Given the description of an element on the screen output the (x, y) to click on. 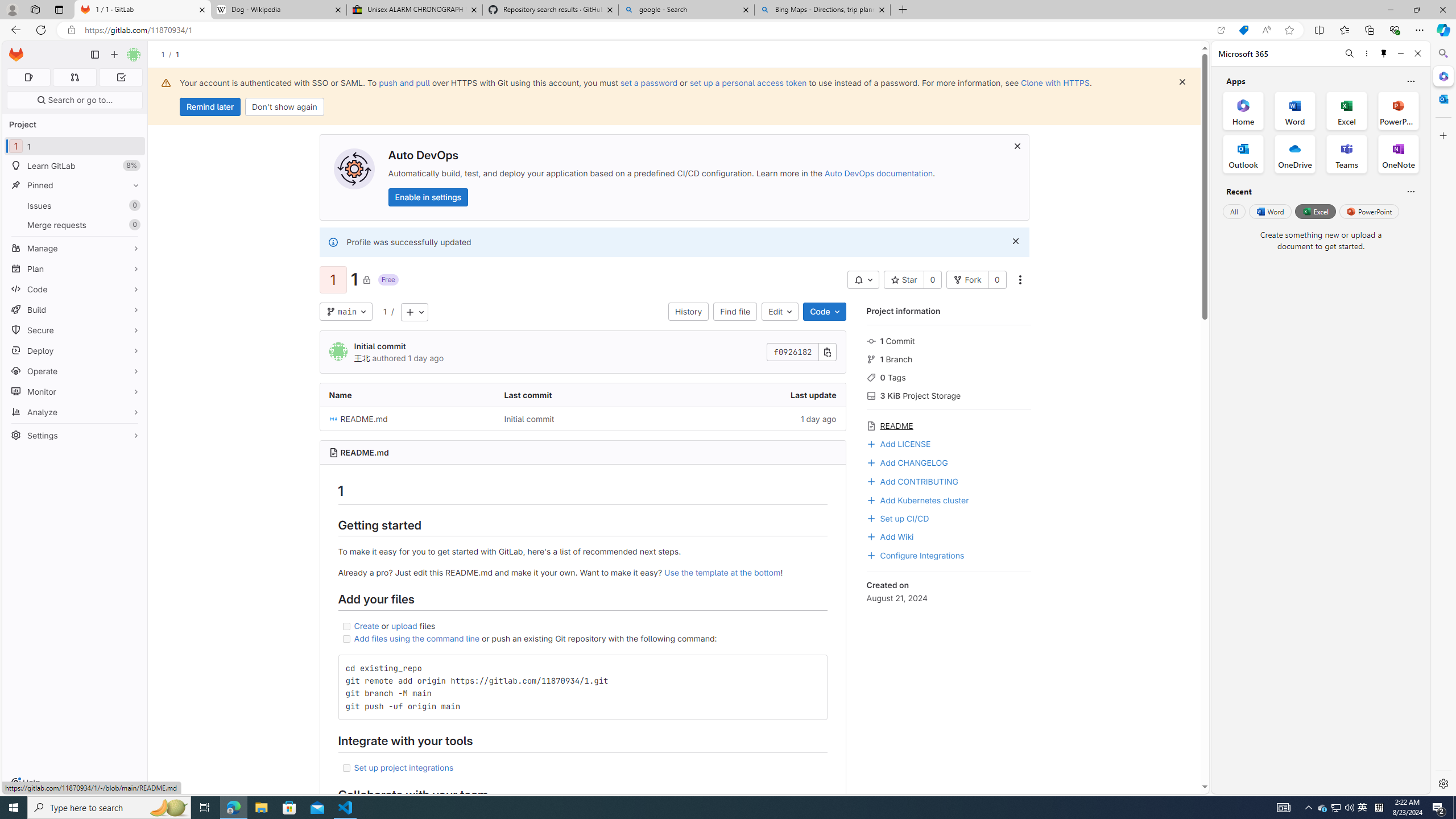
Add Kubernetes cluster (948, 498)
Auto DevOps documentation (878, 172)
Last commit (583, 395)
Last update (757, 395)
Monitor (74, 391)
Plan (74, 268)
push and pull (403, 82)
Fork (967, 280)
Dismiss (1015, 241)
Class: s16 gl-text-blue-500! gl-mr-3 (871, 481)
Class: task-list-item-checkbox (346, 767)
